Given the description of an element on the screen output the (x, y) to click on. 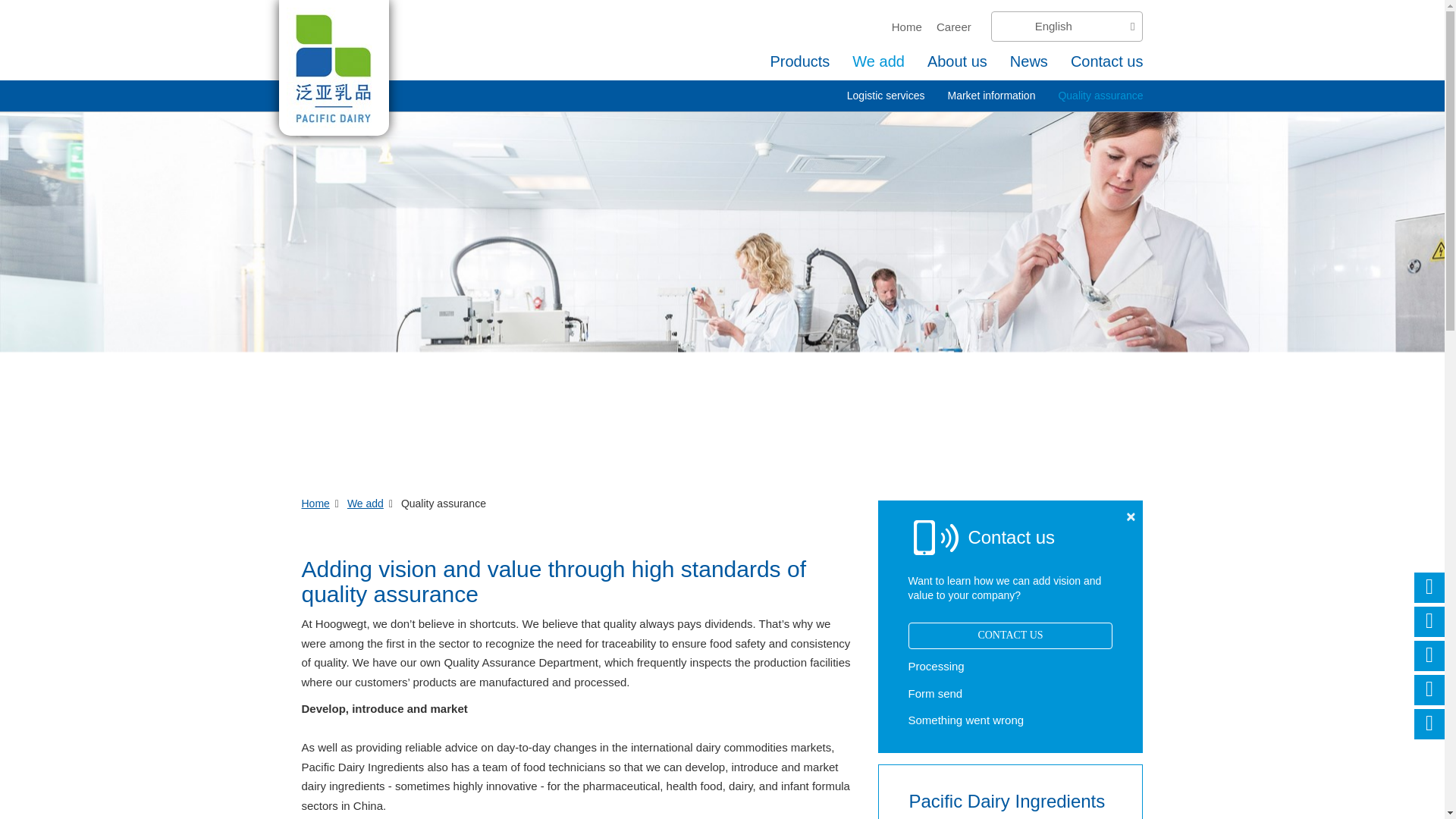
We add (365, 503)
Market information (991, 95)
Home (315, 503)
Quality assurance (1100, 95)
News (1028, 61)
Logistic services (885, 95)
Products (799, 61)
CONTACT US (1010, 635)
Quality assurance (1100, 95)
About us (956, 61)
